Given the description of an element on the screen output the (x, y) to click on. 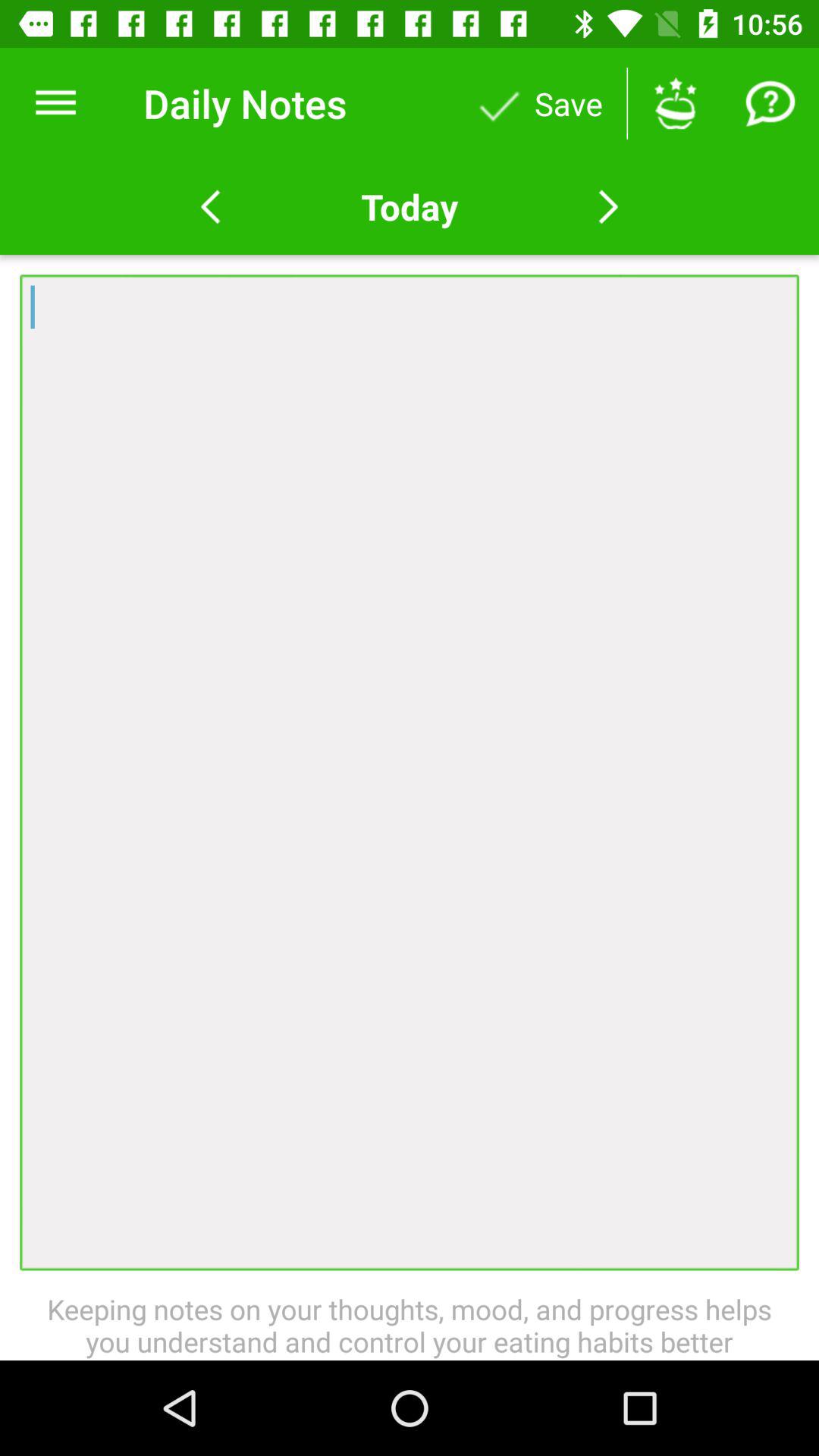
click today item (409, 206)
